Given the description of an element on the screen output the (x, y) to click on. 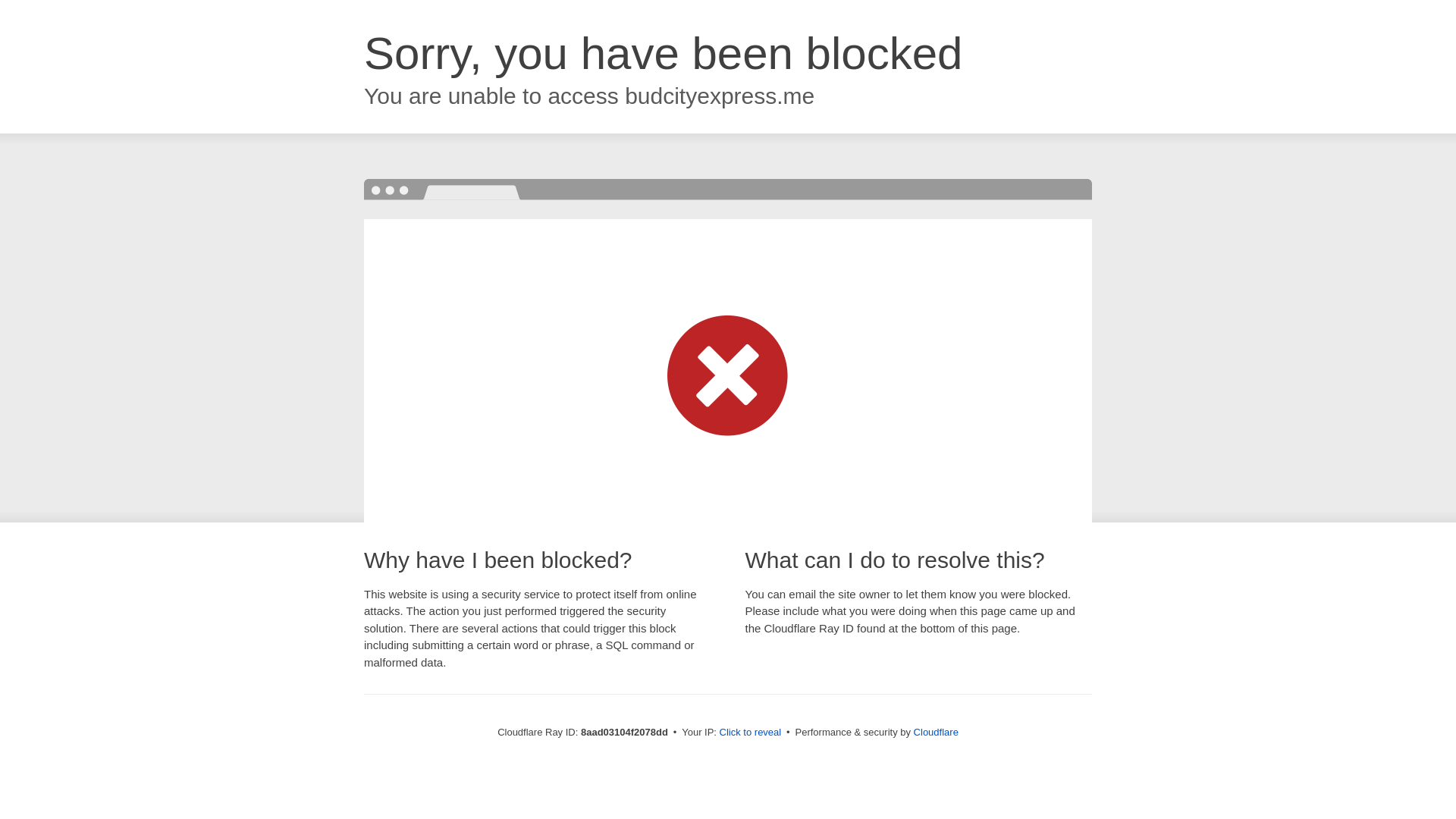
Click to reveal (750, 732)
Cloudflare (936, 731)
